Given the description of an element on the screen output the (x, y) to click on. 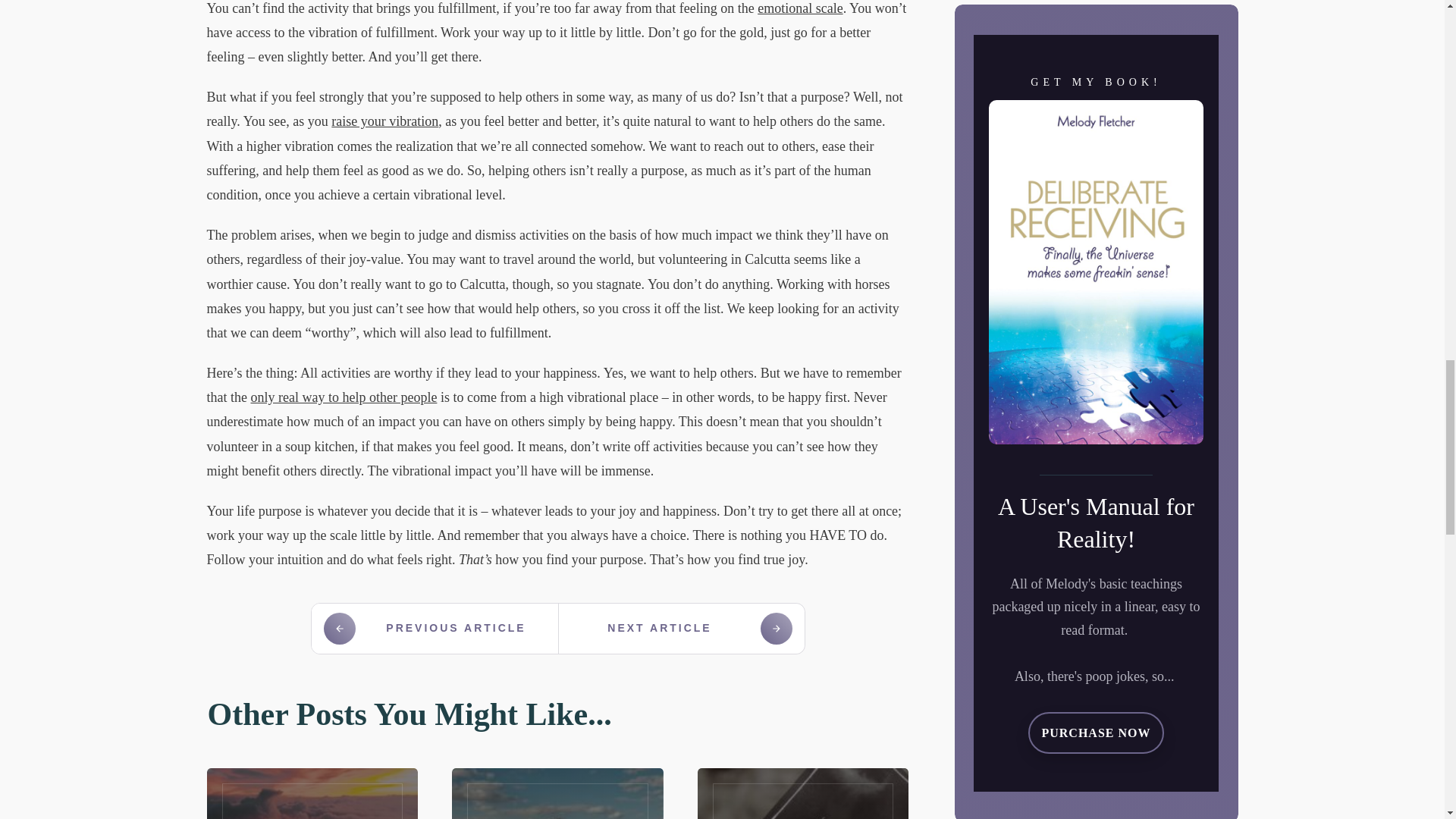
Final High-Res cover (1096, 271)
NEXT ARTICLE (680, 628)
only real way to help other people (343, 396)
emotional scale (800, 7)
raise your vibration (384, 120)
PREVIOUS ARTICLE (434, 628)
